Given the description of an element on the screen output the (x, y) to click on. 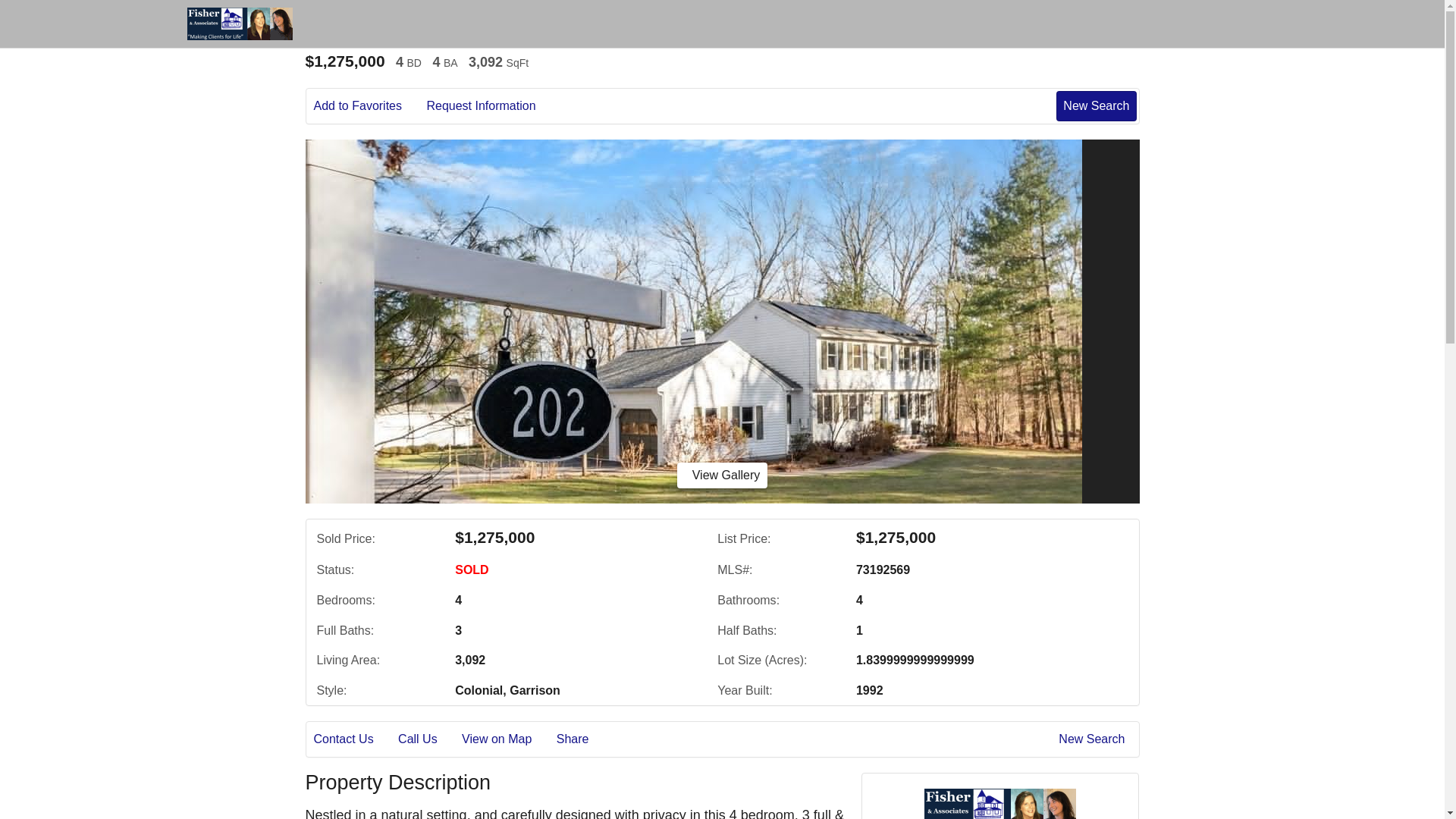
View Gallery (722, 474)
Add to Favorites (368, 106)
View on Map (507, 739)
Request Information (491, 106)
View Gallery (722, 475)
Share (583, 739)
New Search (1094, 739)
Contact Us (354, 739)
New Search (1096, 105)
Call Us (427, 739)
